Given the description of an element on the screen output the (x, y) to click on. 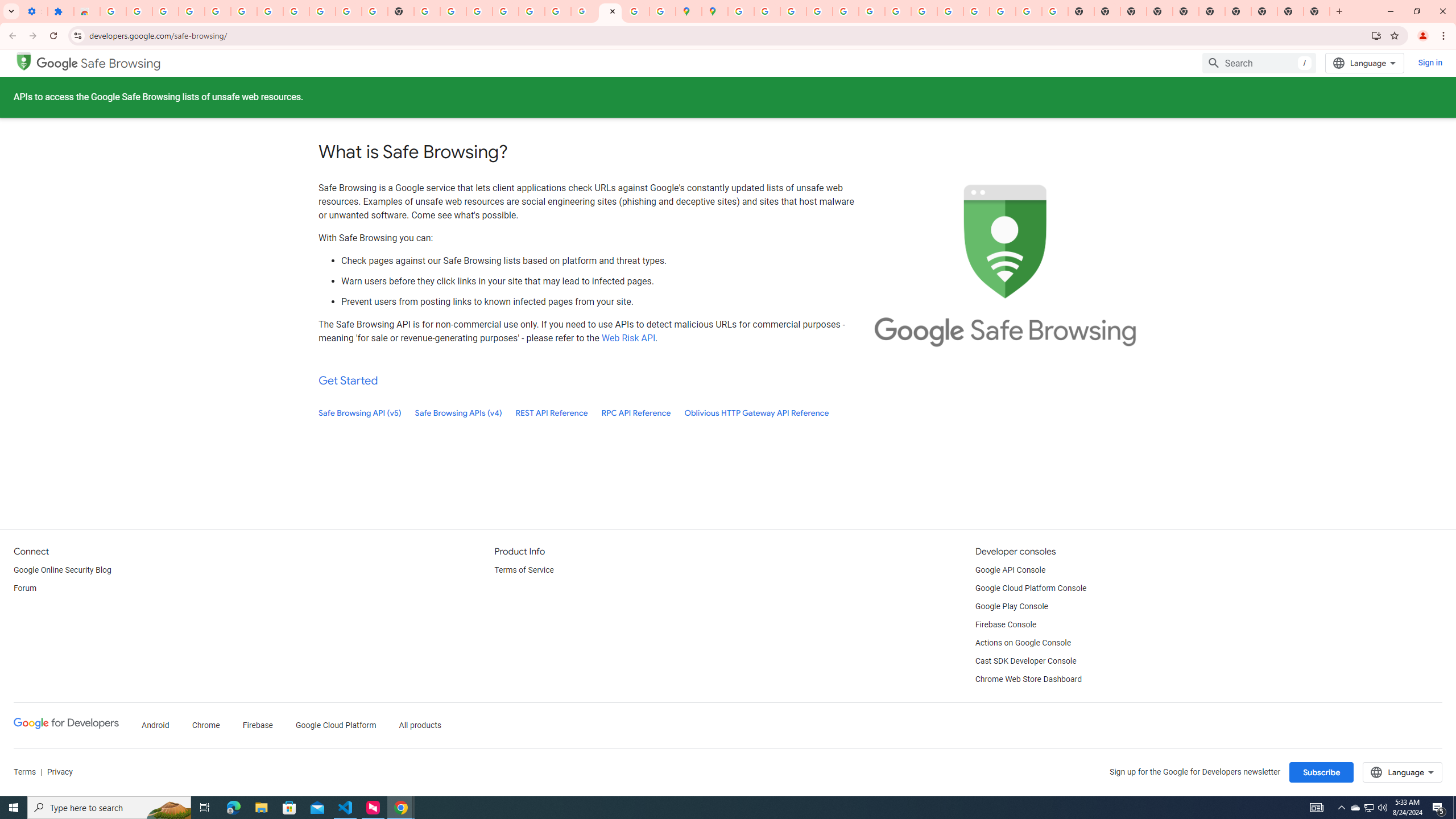
Android (154, 725)
Oblivious HTTP Gateway API Reference (756, 412)
Browse Chrome as a guest - Computer - Google Chrome Help (923, 11)
Google Images (1054, 11)
All products (420, 725)
Google Safe Browsing (23, 60)
Google (57, 63)
Sign in - Google Accounts (505, 11)
Terms (24, 772)
Privacy (59, 772)
Actions on Google Console (1023, 642)
